Given the description of an element on the screen output the (x, y) to click on. 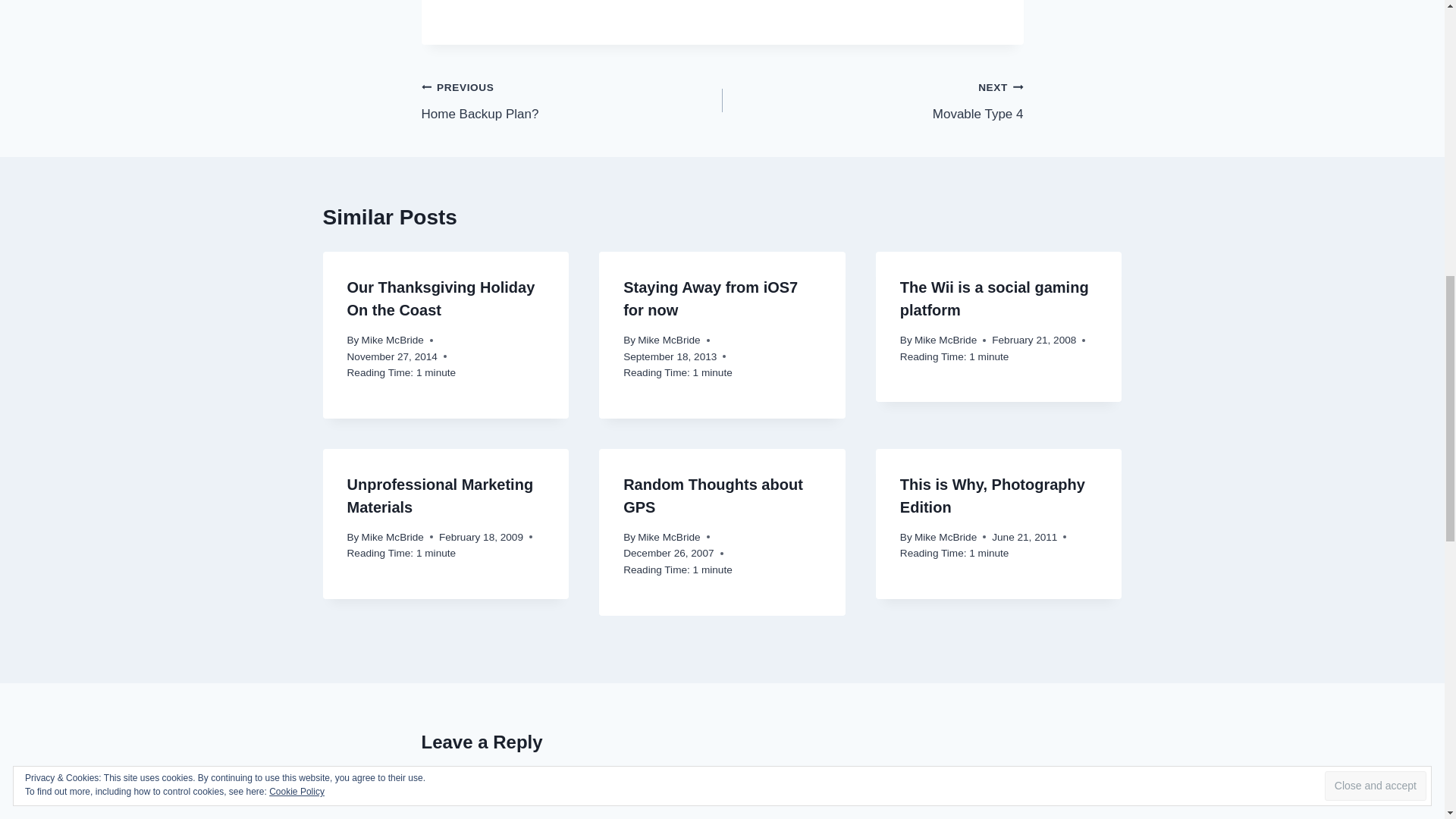
Our Thanksgiving Holiday On the Coast (441, 298)
Mike McBride (572, 100)
Comment Form (392, 339)
